Given the description of an element on the screen output the (x, y) to click on. 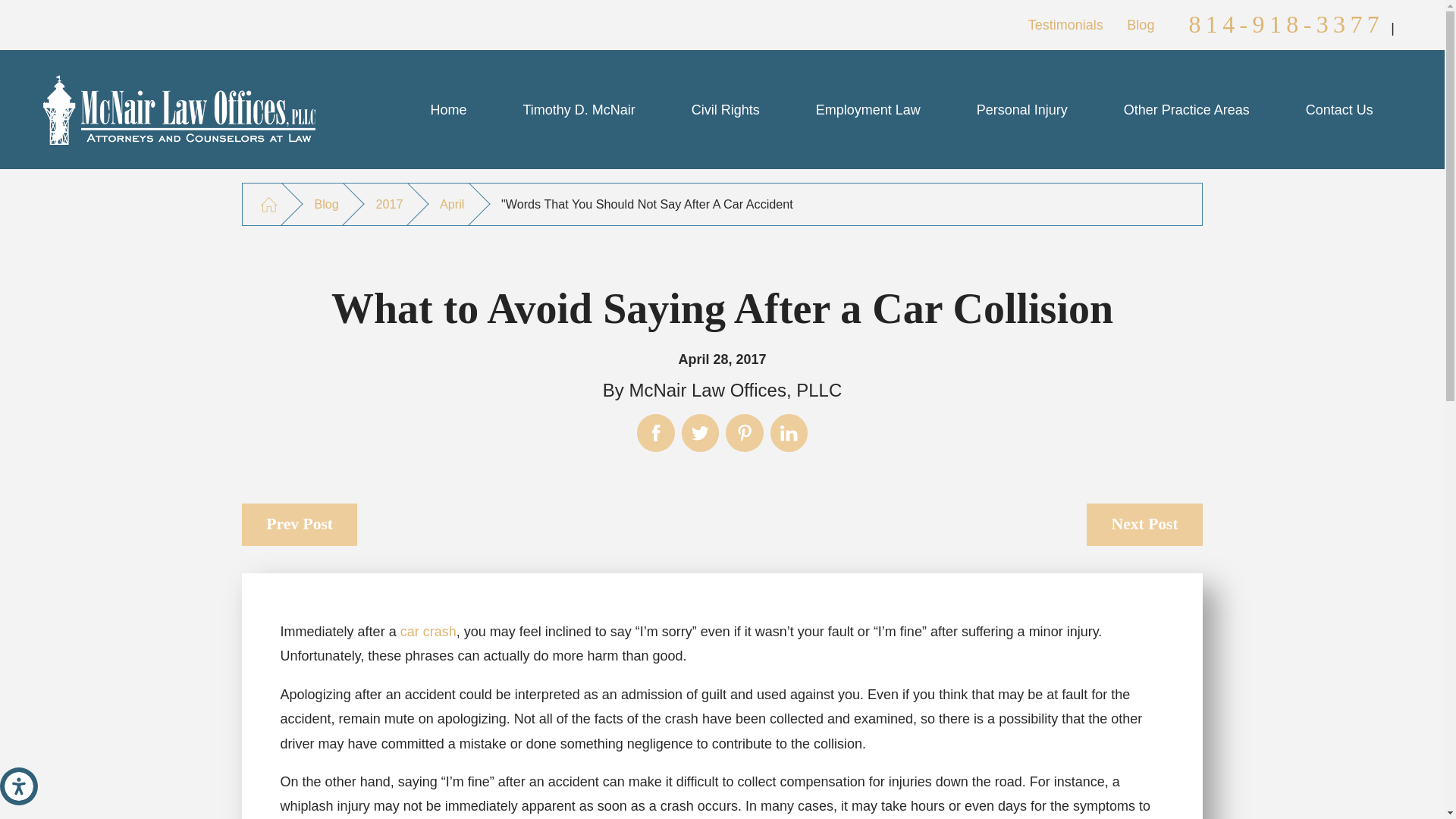
Civil Rights (725, 108)
Personal Injury (1022, 108)
McNair Law Offices, PLLC (179, 109)
Contact Us (1339, 108)
Other Practice Areas (1187, 108)
Go Home (269, 203)
Employment Law (868, 108)
814-918-3377 (1286, 23)
Testimonials (1065, 24)
Open the accessibility options menu (18, 786)
